Given the description of an element on the screen output the (x, y) to click on. 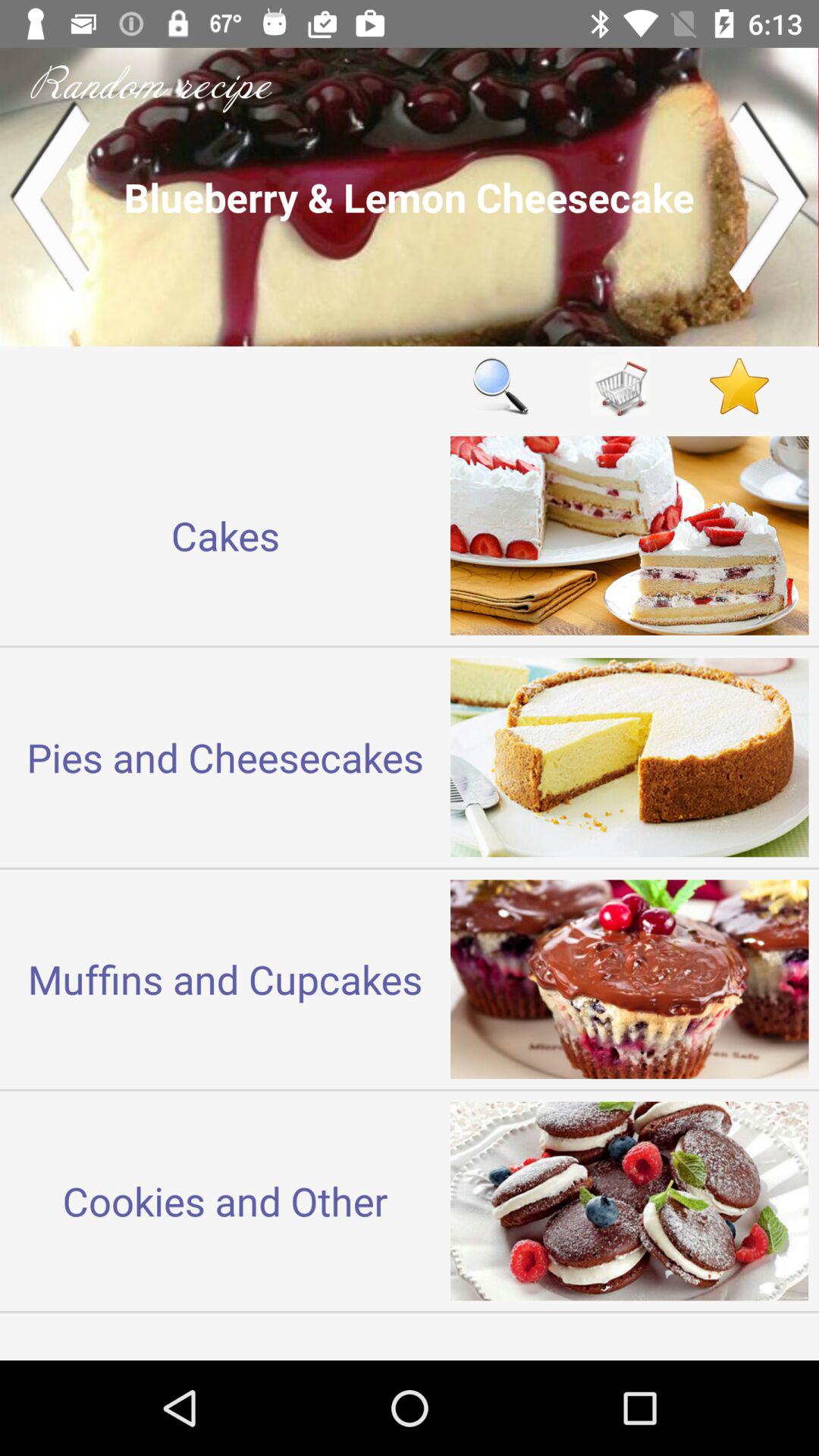
click the muffins and cupcakes (225, 978)
